Given the description of an element on the screen output the (x, y) to click on. 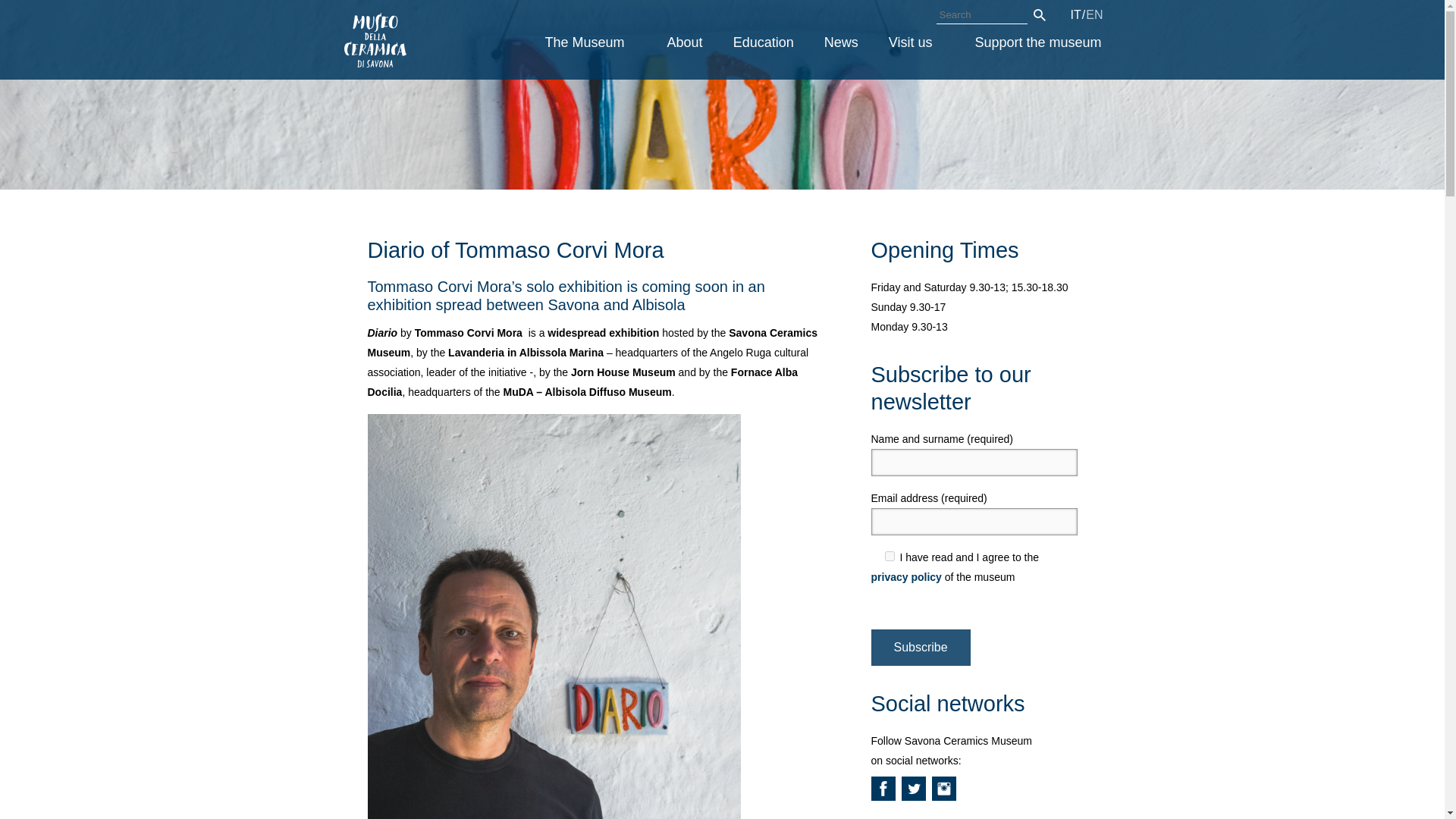
EN (1094, 14)
Education (763, 42)
Profilo Twitter del Museo della Ceramica di Savona (912, 788)
privacy policy (905, 576)
Visit us (916, 42)
The Museum (590, 42)
Profilo Instagram del Museo della Ceramica di Savona (943, 788)
Subscribe (919, 647)
Subscribe (919, 647)
Support the museum (1037, 42)
